Given the description of an element on the screen output the (x, y) to click on. 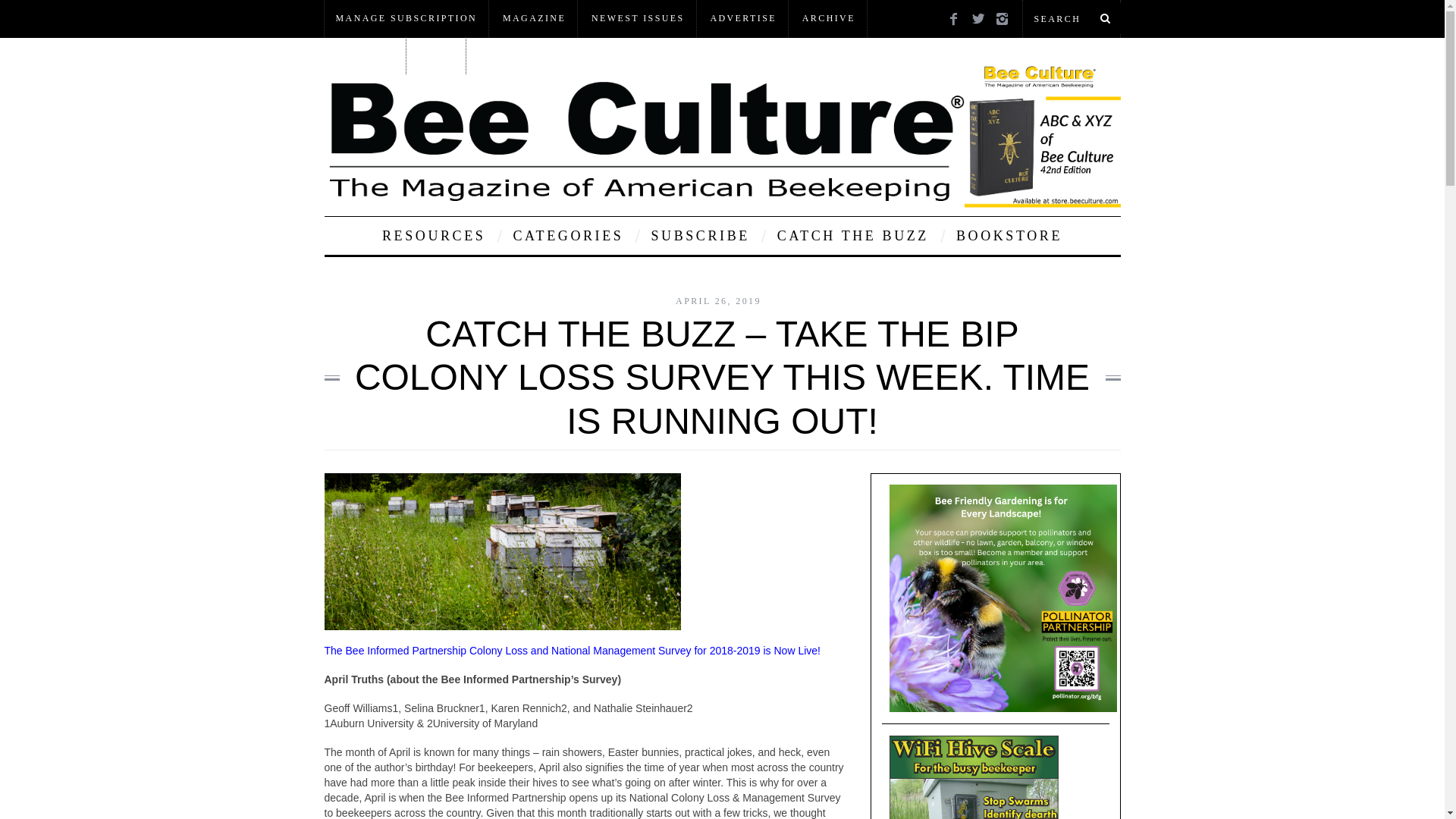
ADVERTISE (742, 18)
Search (1071, 18)
ABOUT US (364, 54)
RESOURCES (433, 235)
NEWEST ISSUES (637, 18)
MAGAZINE (534, 18)
ARCHIVE (828, 18)
MANAGE SUBSCRIPTION (406, 18)
HOME (437, 54)
